Given the description of an element on the screen output the (x, y) to click on. 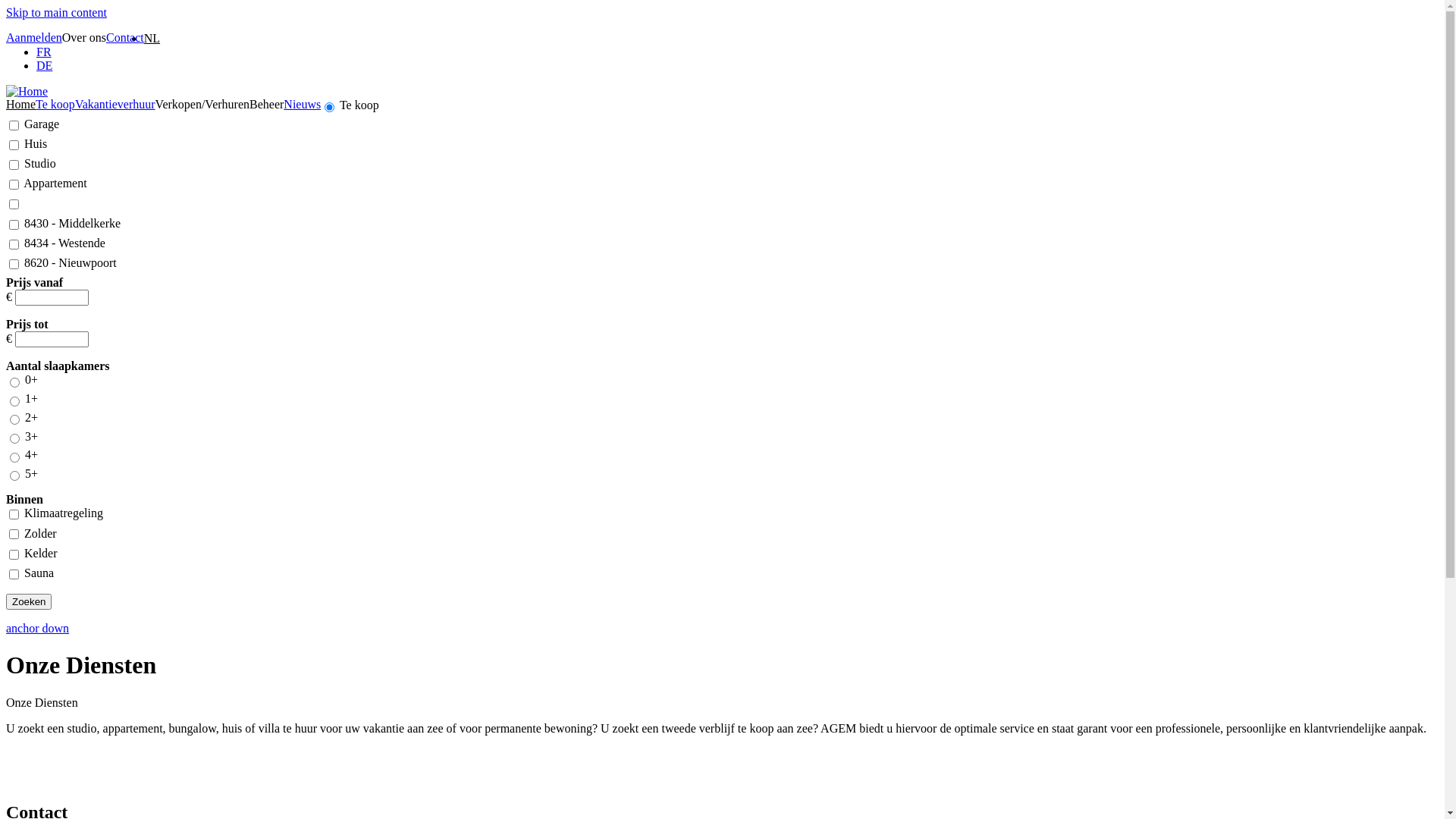
Home Element type: hover (26, 90)
FR Element type: text (43, 51)
Zoeken Element type: text (28, 601)
Skip to main content Element type: text (56, 12)
Nieuws Element type: text (301, 104)
Vakantieverhuur Element type: text (115, 104)
Contact Element type: text (125, 37)
DE Element type: text (44, 65)
anchor down Element type: text (37, 627)
NL Element type: text (152, 37)
Home Element type: text (20, 104)
Te koop Element type: text (55, 104)
Aanmelden Element type: text (34, 37)
